Given the description of an element on the screen output the (x, y) to click on. 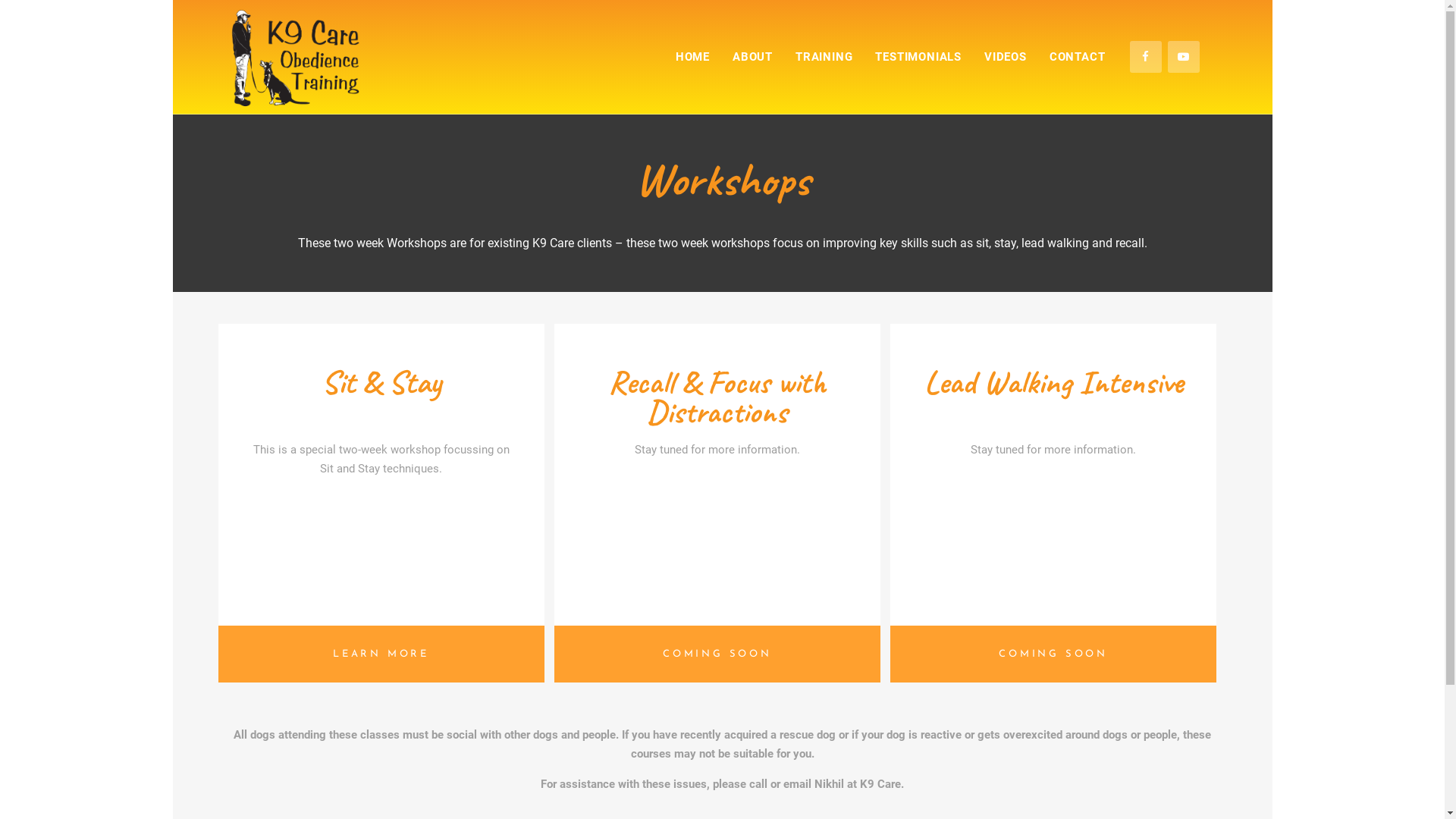
CONTACT Element type: text (1077, 56)
COMING SOON Element type: text (1053, 653)
TRAINING Element type: text (823, 56)
LEARN MORE Element type: text (381, 653)
COMING SOON Element type: text (717, 653)
VIDEOS Element type: text (1005, 56)
HOME Element type: text (692, 56)
TESTIMONIALS Element type: text (917, 56)
ABOUT Element type: text (752, 56)
Lead Walking Intensive
Stay tuned for more information. Element type: text (1053, 474)
